Given the description of an element on the screen output the (x, y) to click on. 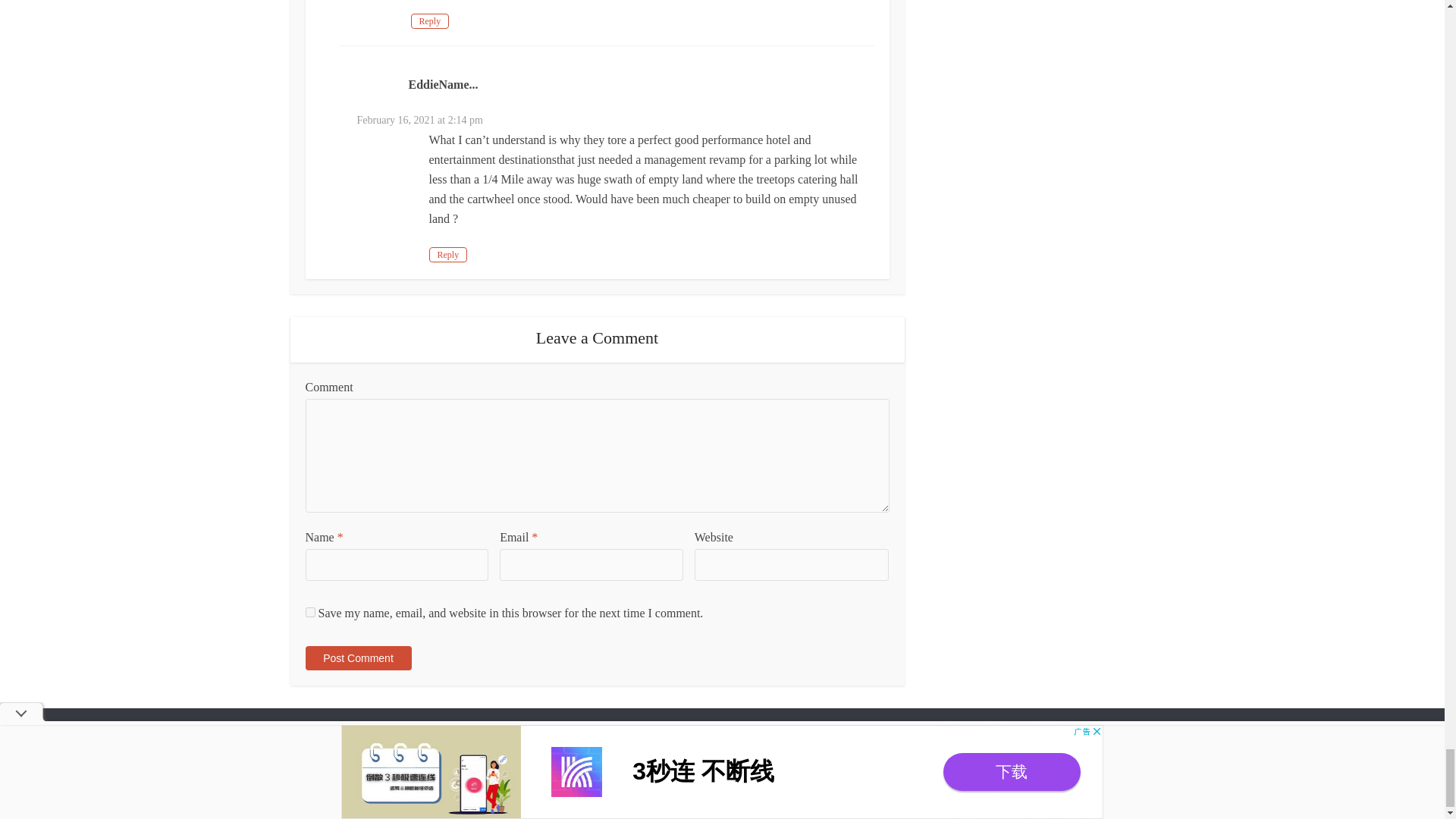
Post Comment (357, 658)
yes (309, 612)
